Given the description of an element on the screen output the (x, y) to click on. 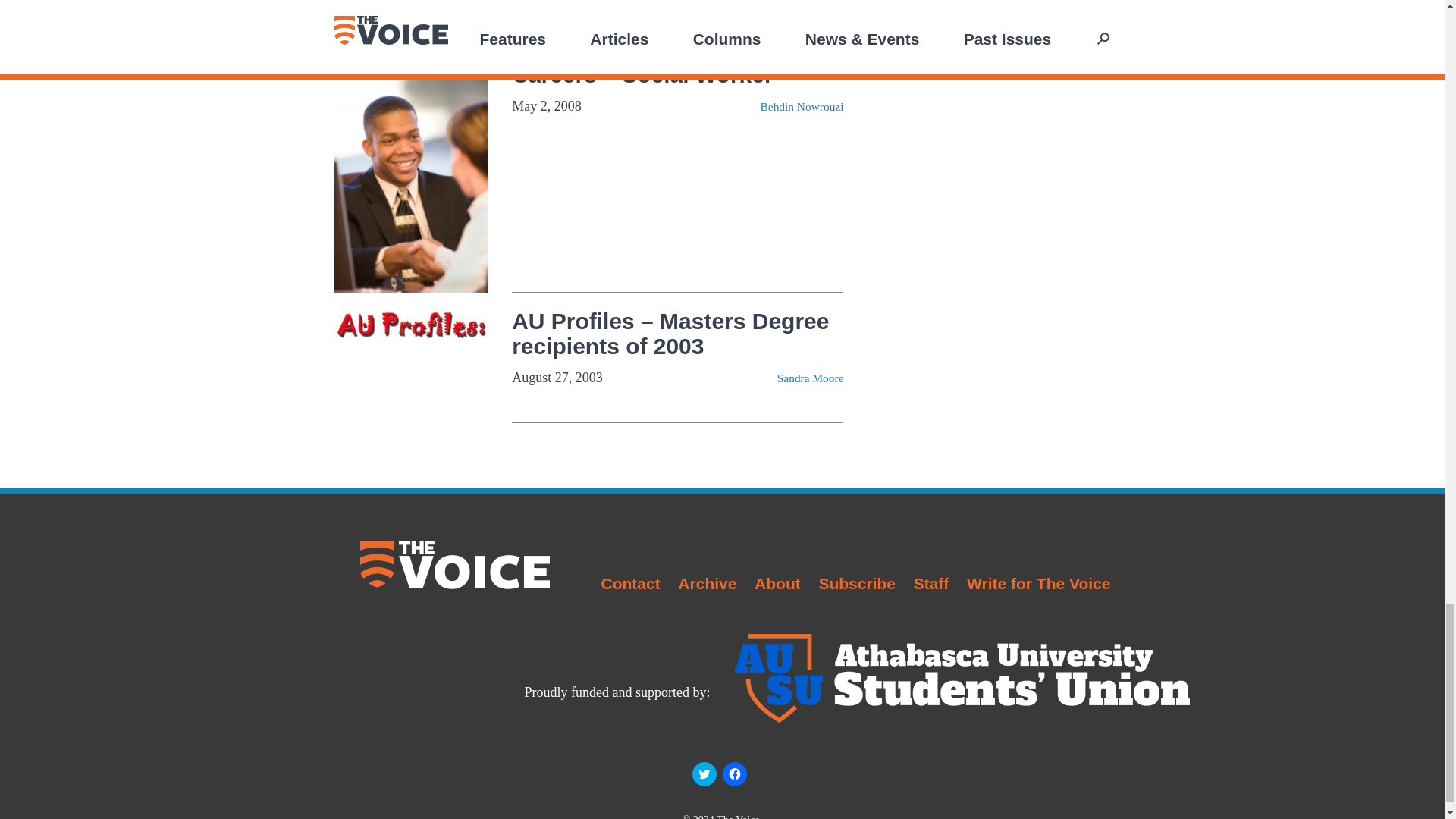
Posts by Sandra Moore (810, 377)
Sandra Moore (810, 377)
Posts by Christina M. Frey (801, 4)
Posts by Behdin Nowrouzi (802, 106)
Christina M. Frey (801, 4)
Behdin Nowrouzi (802, 106)
